Given the description of an element on the screen output the (x, y) to click on. 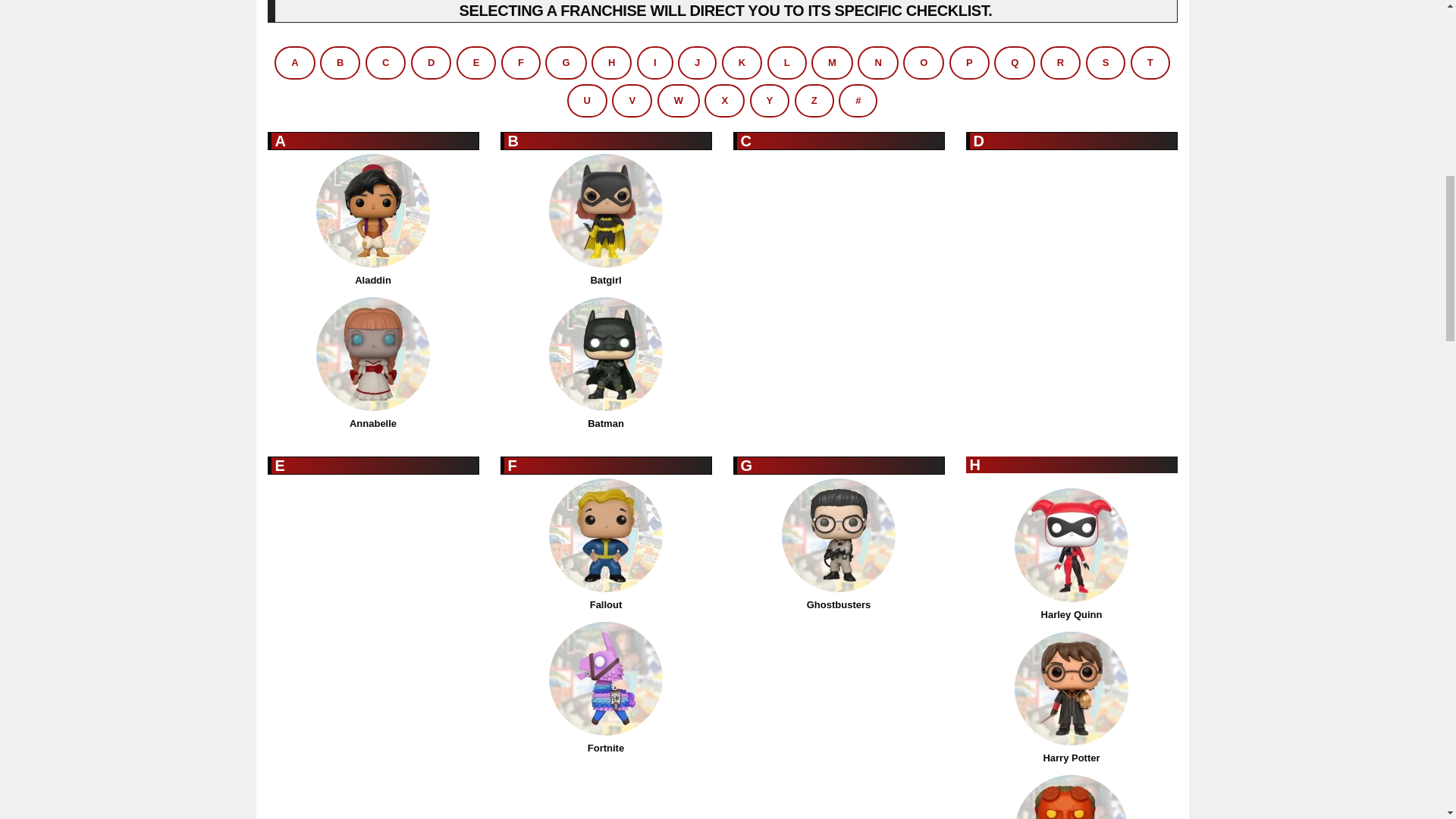
Scroll back to top (1406, 720)
A (294, 62)
C (385, 62)
D (430, 62)
B (339, 62)
